Given the description of an element on the screen output the (x, y) to click on. 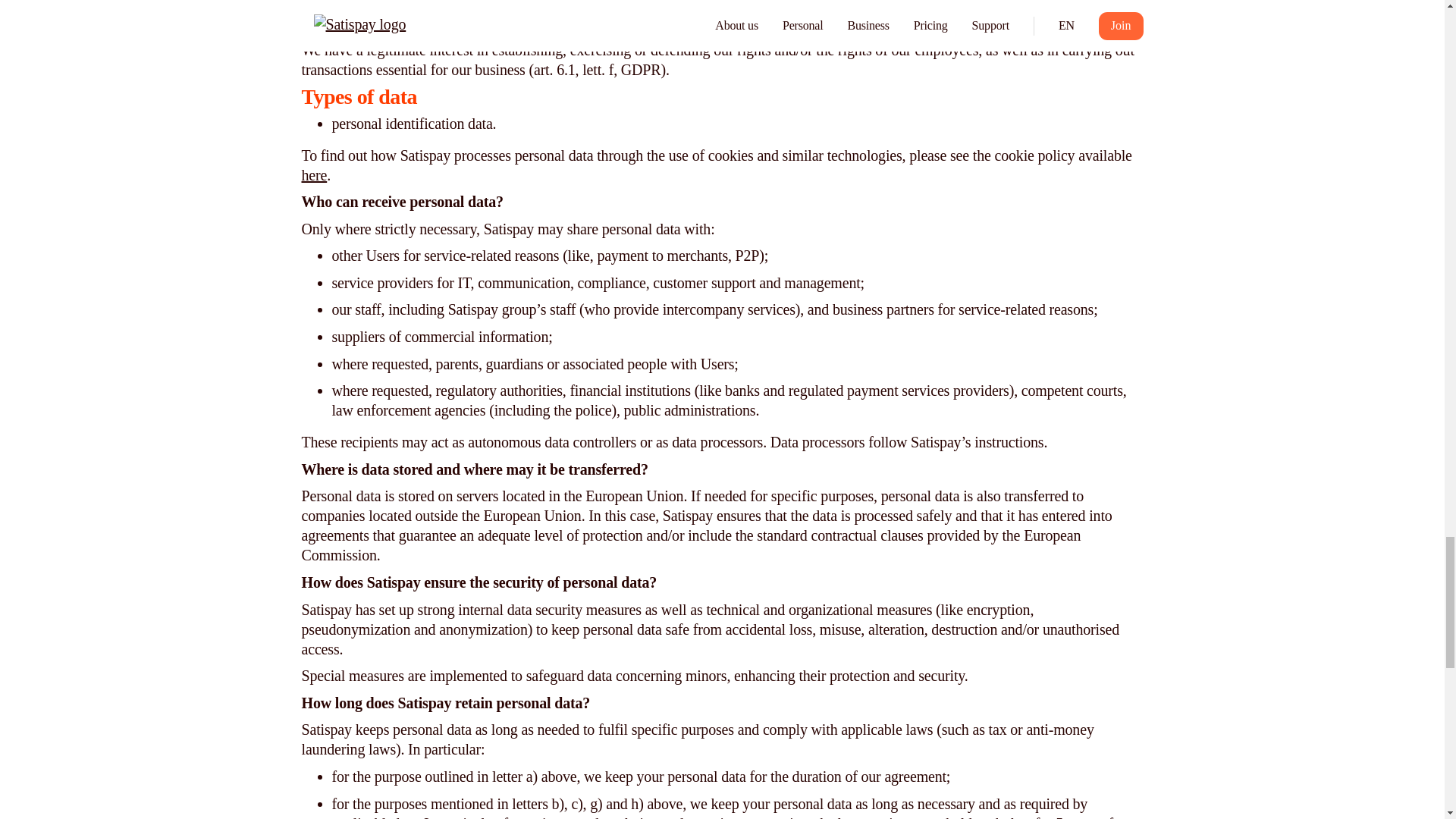
here (314, 175)
